Given the description of an element on the screen output the (x, y) to click on. 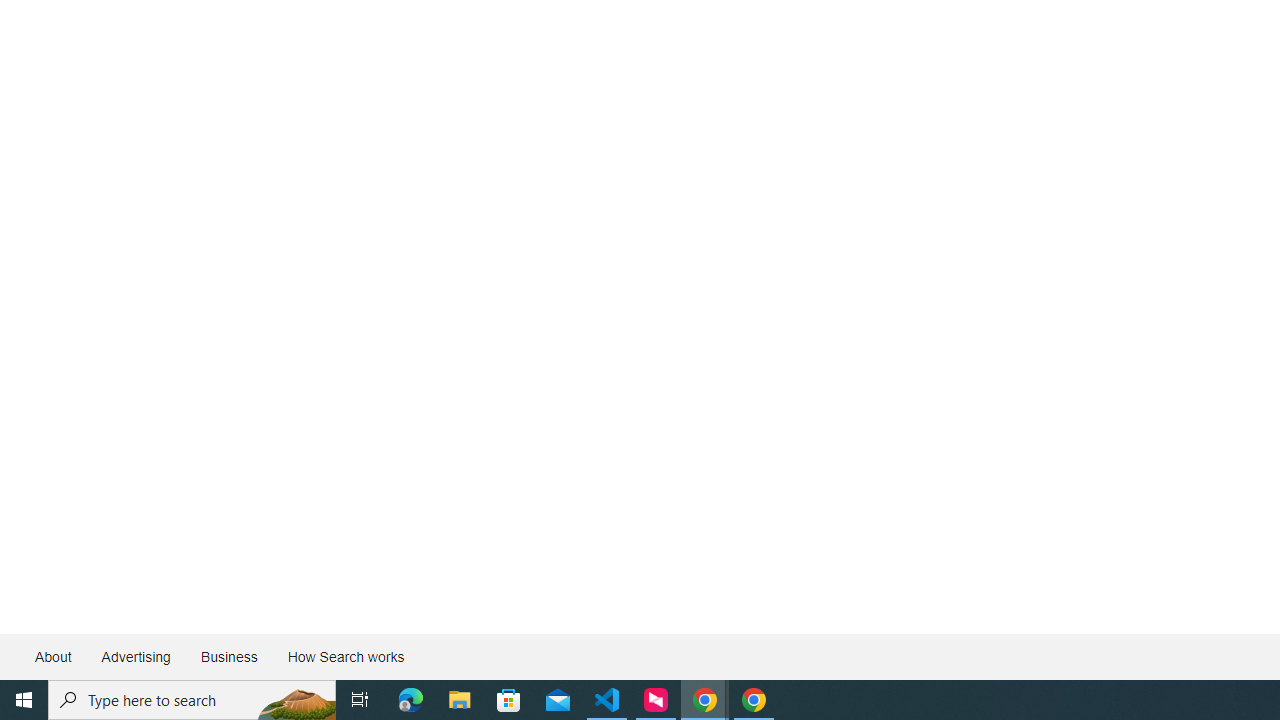
How Search works (345, 656)
Business (228, 656)
Advertising (135, 656)
